Given the description of an element on the screen output the (x, y) to click on. 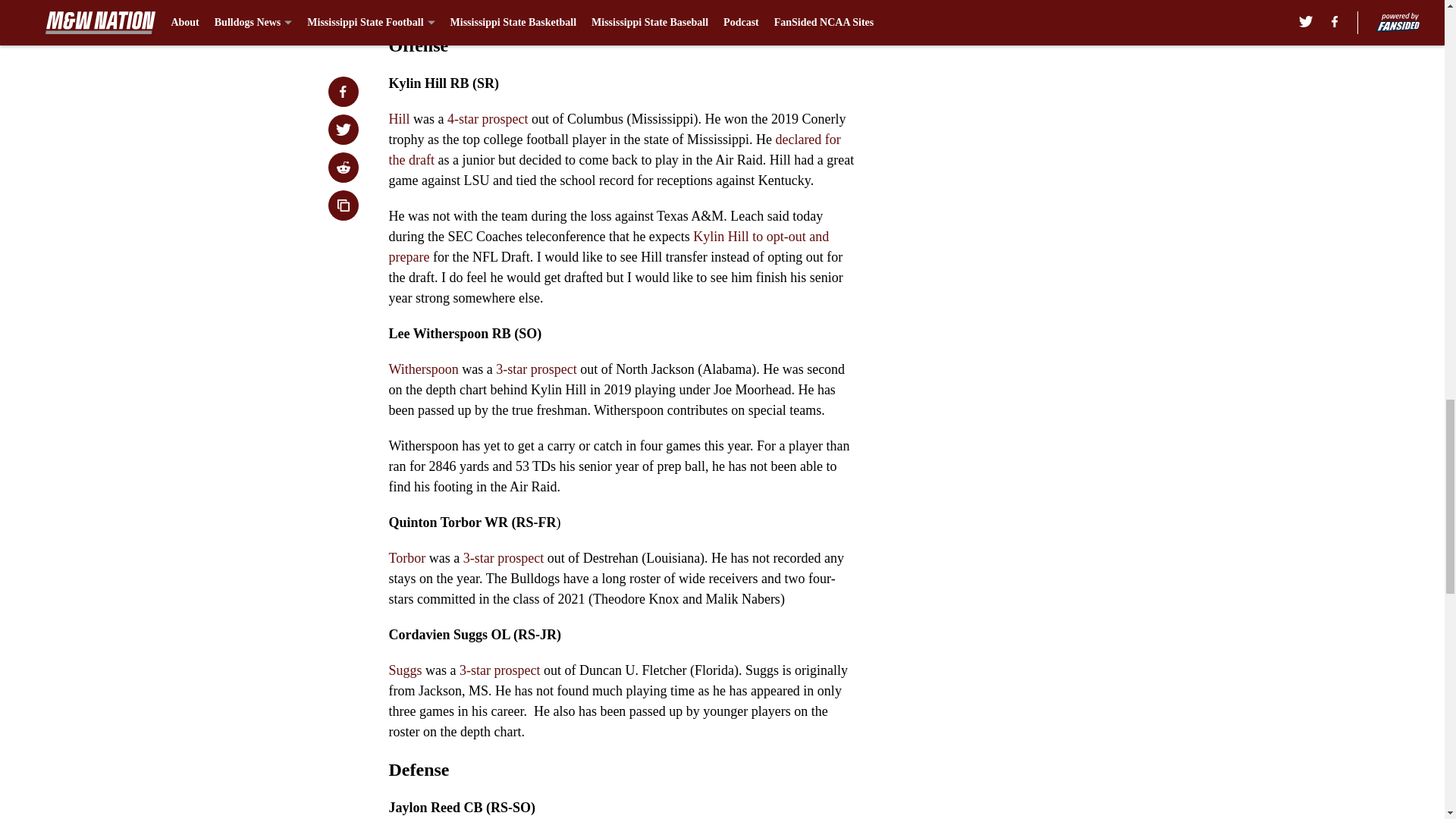
Witherspoon (423, 368)
declared for the draft (614, 149)
Hill (398, 118)
4-star prospect (486, 118)
3-star prospect (536, 368)
October 27, 2020 (646, 2)
Kylin Hill to opt-out and prepare (608, 246)
